Given the description of an element on the screen output the (x, y) to click on. 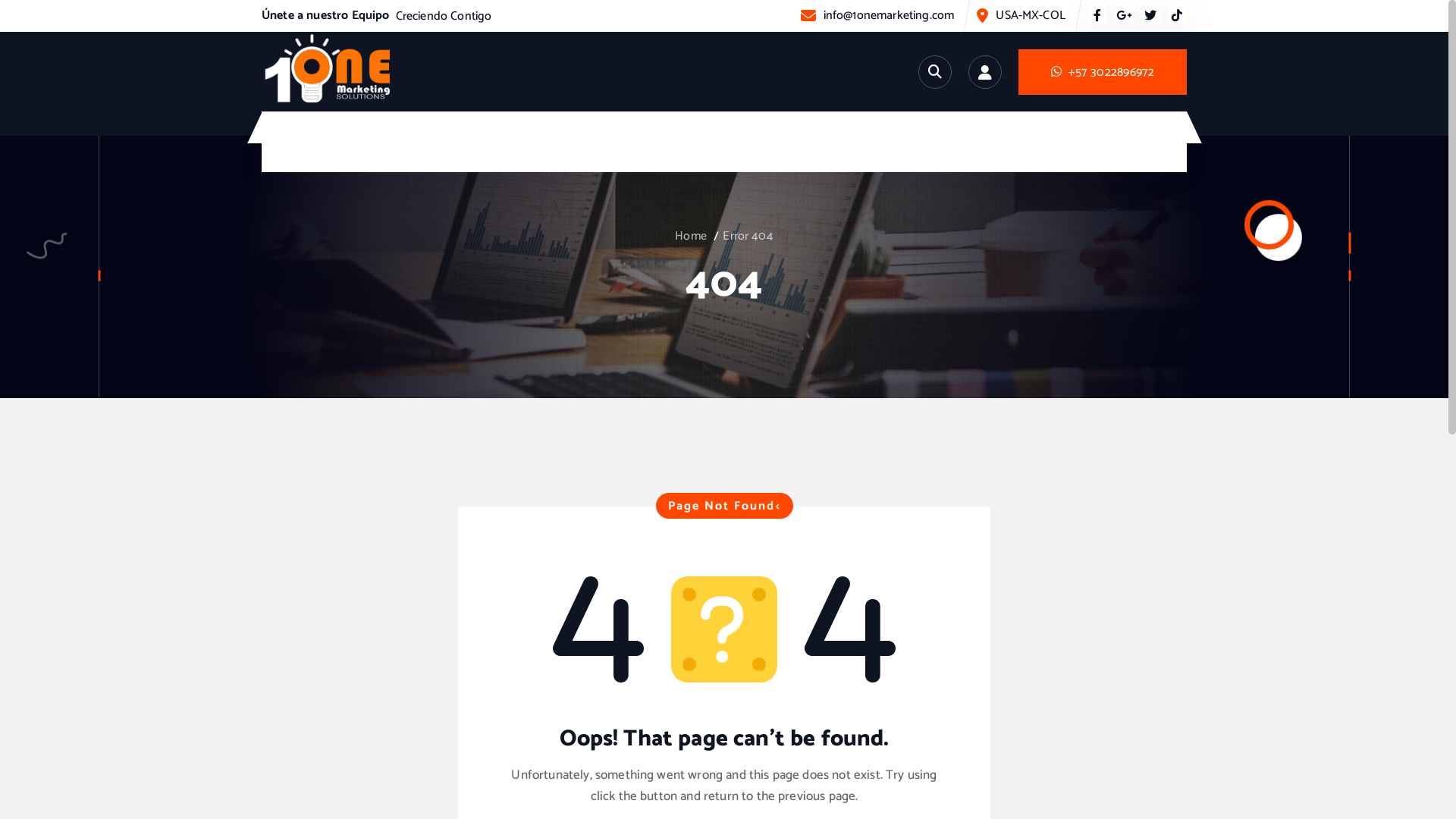
Home Element type: text (690, 235)
USA-MX-COL Element type: text (1030, 15)
Error 404 Element type: text (747, 235)
info@1onemarketing.com Element type: text (888, 15)
+57 3022896972 Element type: text (1102, 71)
